Given the description of an element on the screen output the (x, y) to click on. 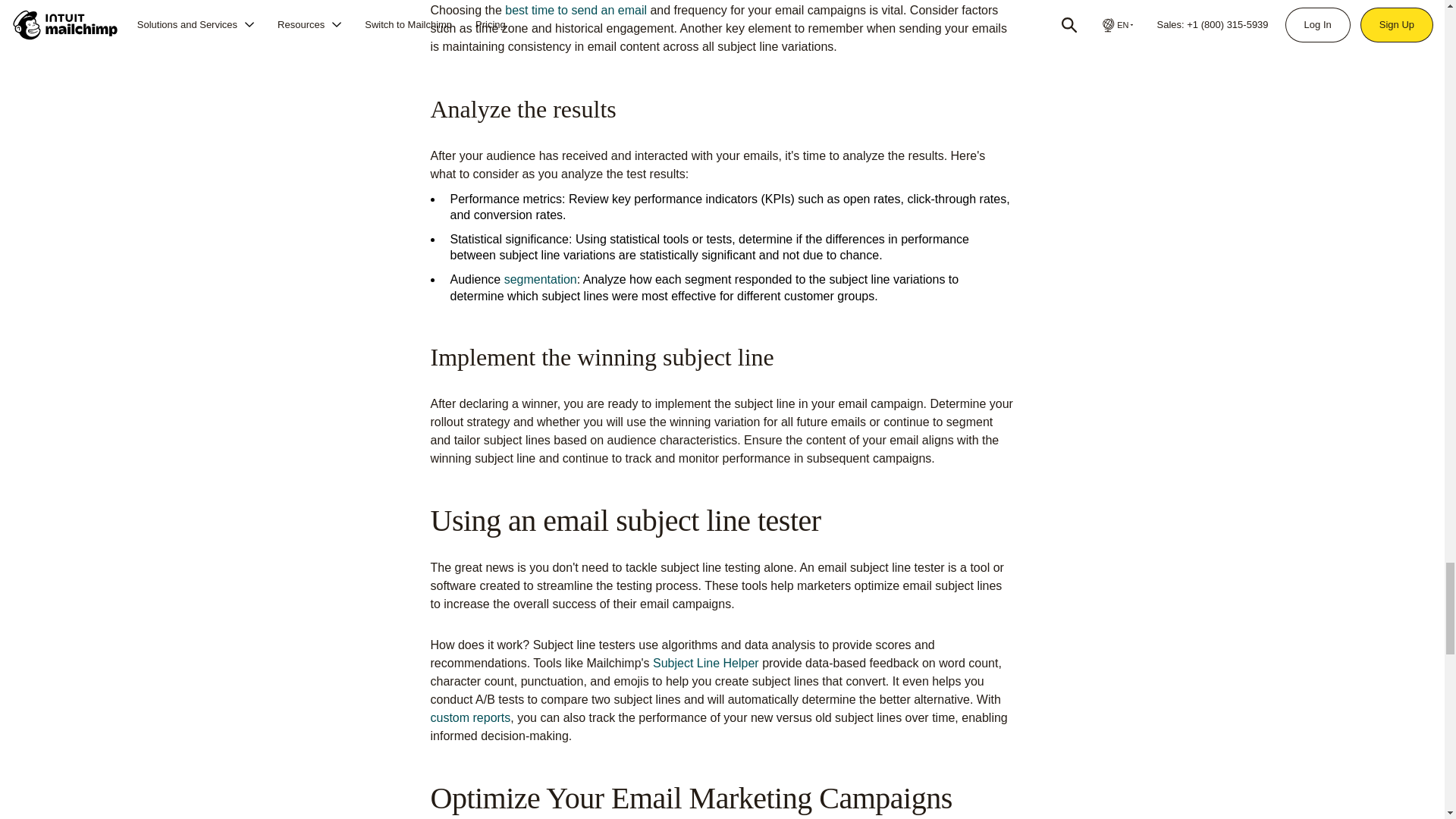
best time to send an email (575, 10)
custom reports (470, 717)
Subject Line Helper (705, 662)
segmentation (539, 278)
